Given the description of an element on the screen output the (x, y) to click on. 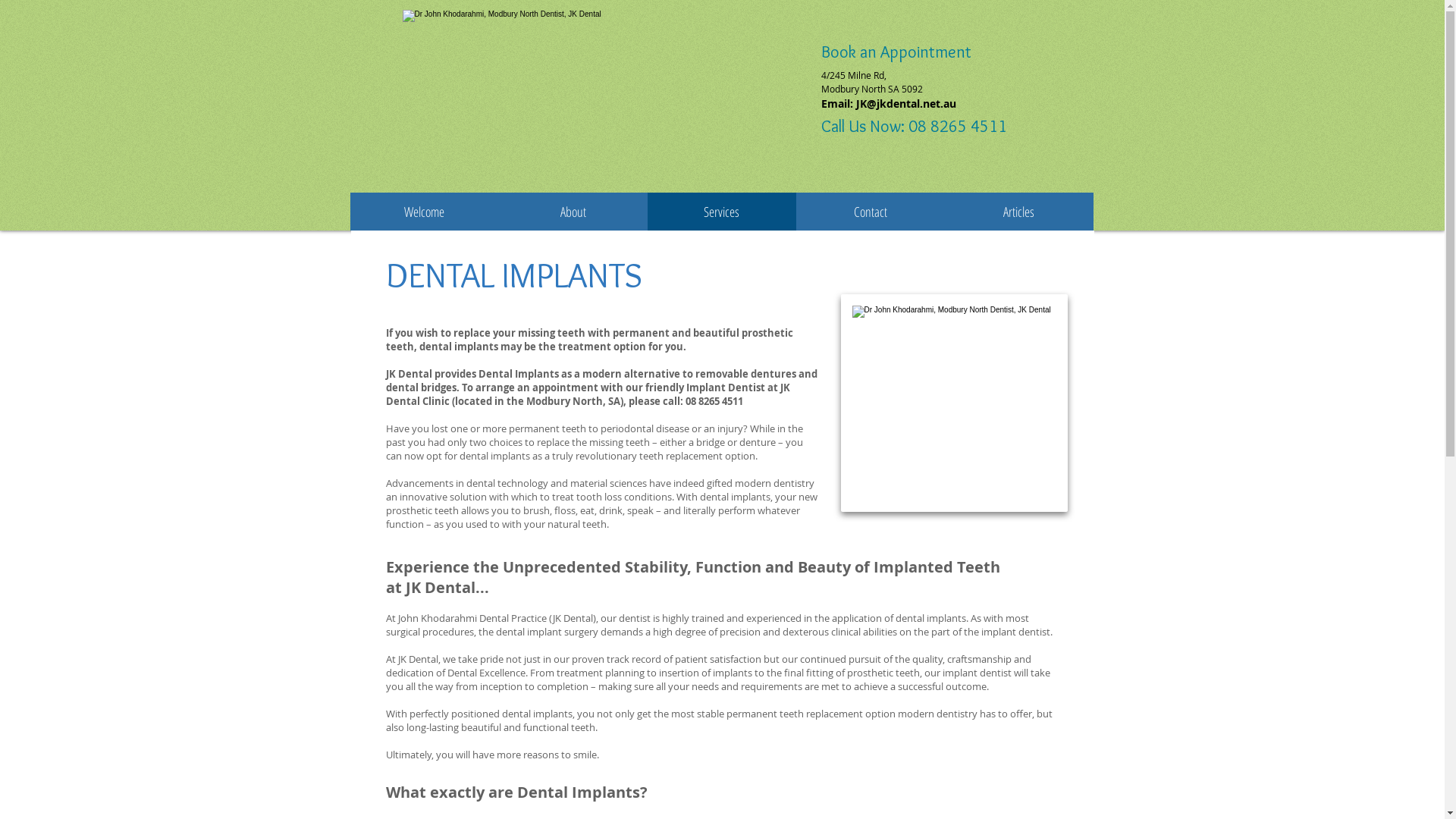
Welcome Element type: text (424, 211)
About Element type: text (572, 211)
Contact Element type: text (870, 211)
Articles Element type: text (1018, 211)
JK@jkdental.net.au Element type: text (905, 103)
dentalimplant.jpg Element type: hover (953, 402)
Services Element type: text (721, 211)
